Given the description of an element on the screen output the (x, y) to click on. 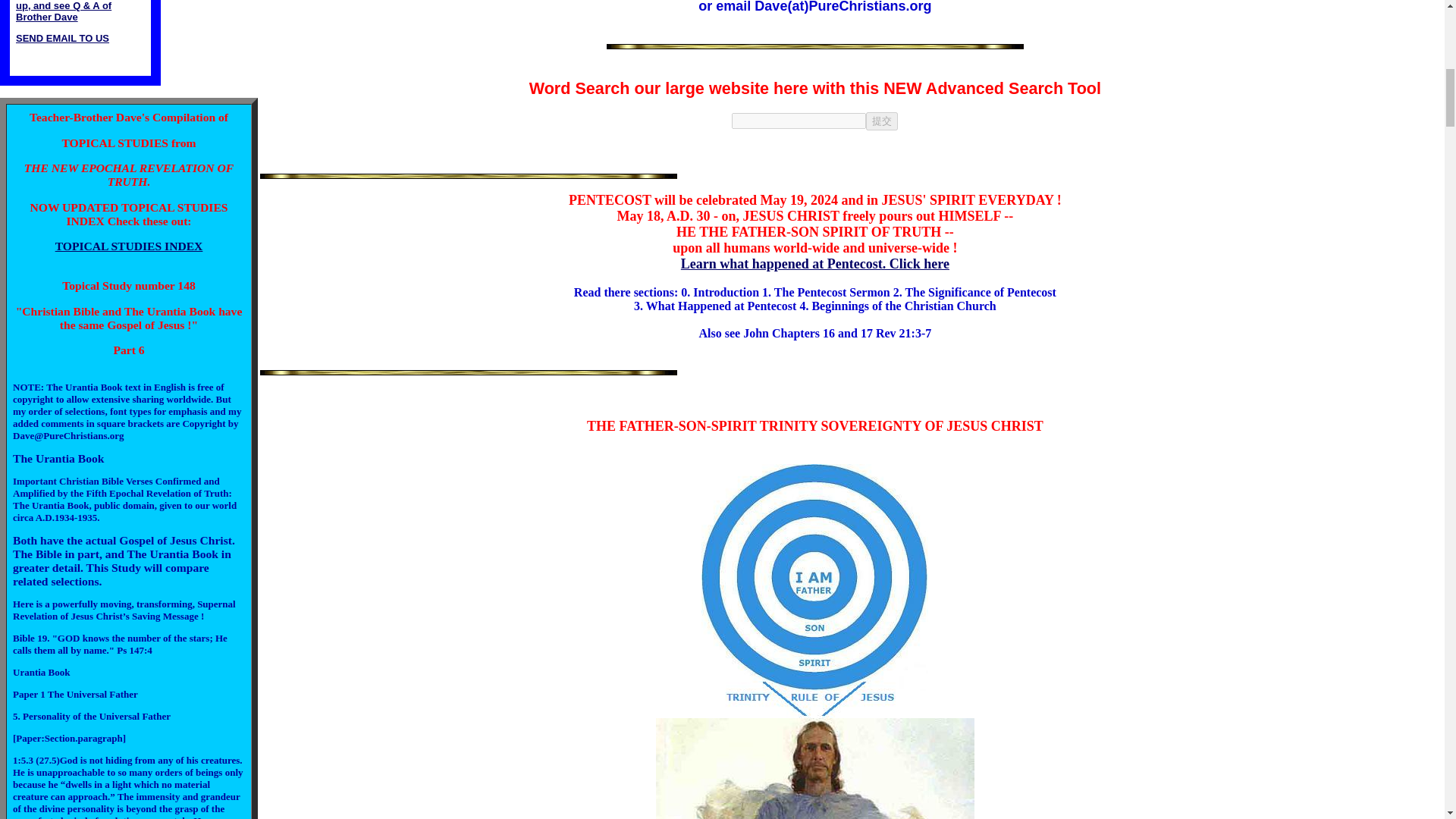
SEND EMAIL TO US (62, 38)
TOPICAL STUDIES INDEX (129, 245)
